Given the description of an element on the screen output the (x, y) to click on. 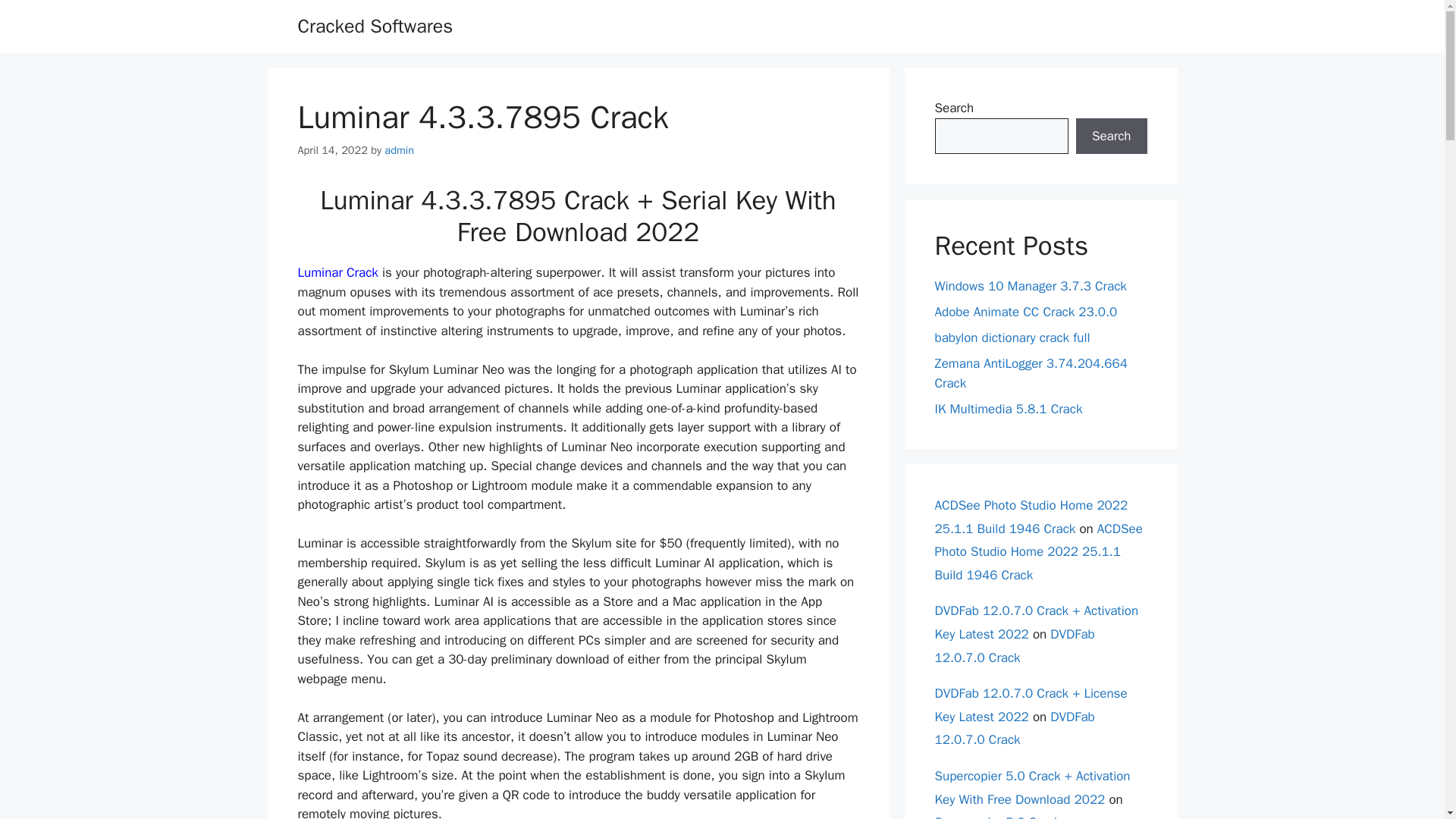
ACDSee Photo Studio Home 2022 25.1.1 Build 1946 Crack (1030, 517)
Luminar Crack (339, 272)
babylon dictionary crack full (1011, 337)
Zemana AntiLogger 3.74.204.664 Crack (1030, 373)
ACDSee Photo Studio Home 2022 25.1.1 Build 1946 Crack (1037, 551)
Search (1111, 135)
View all posts by admin (398, 150)
admin (398, 150)
Adobe Animate CC Crack 23.0.0 (1025, 311)
Windows 10 Manager 3.7.3 Crack (1029, 286)
Cracked Softwares (374, 25)
IK Multimedia 5.8.1 Crack (1007, 408)
